Given the description of an element on the screen output the (x, y) to click on. 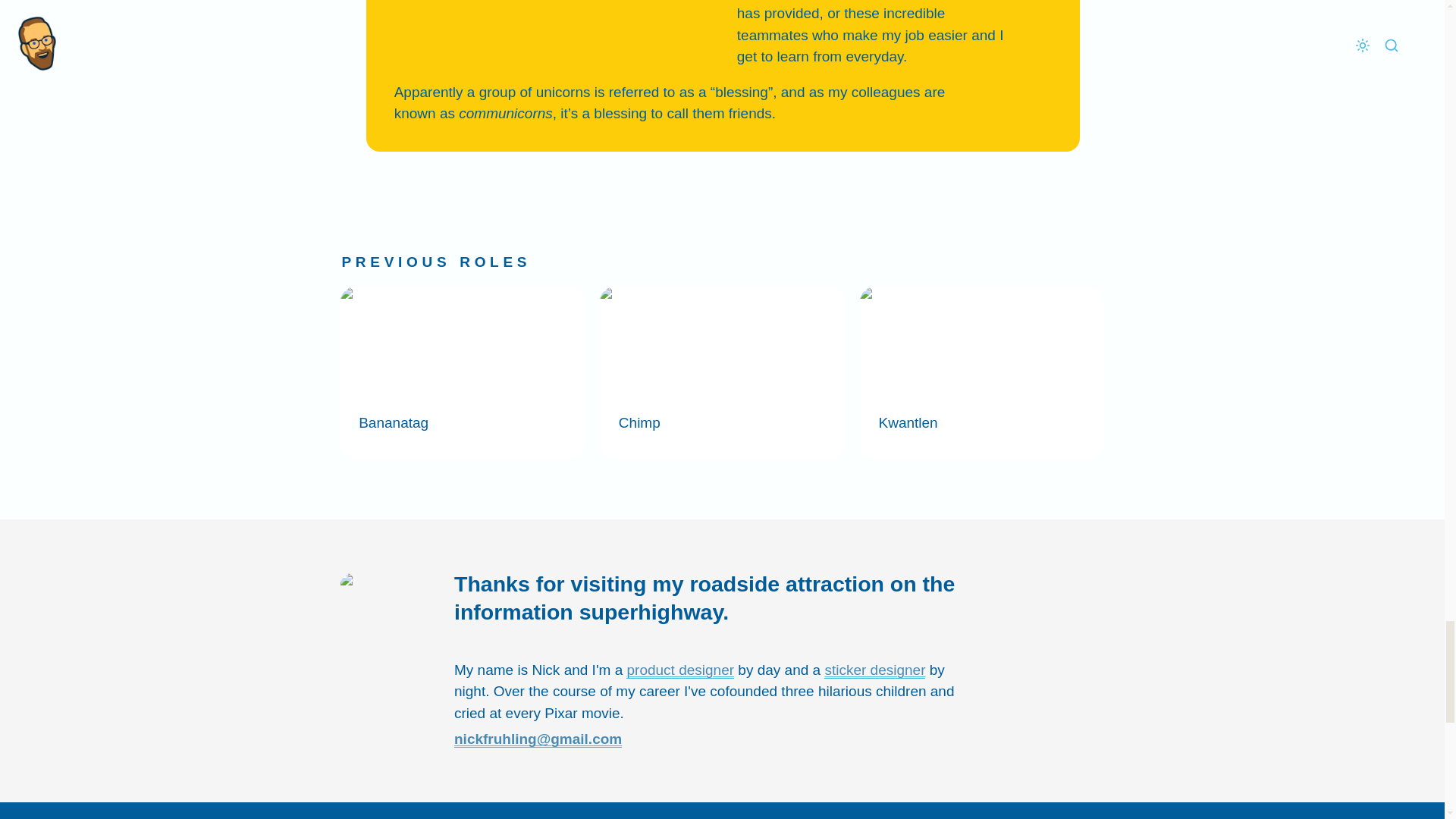
Kwantlen (982, 372)
Chimp (721, 372)
sticker designer (874, 669)
Bananatag (462, 372)
product designer (679, 669)
